Given the description of an element on the screen output the (x, y) to click on. 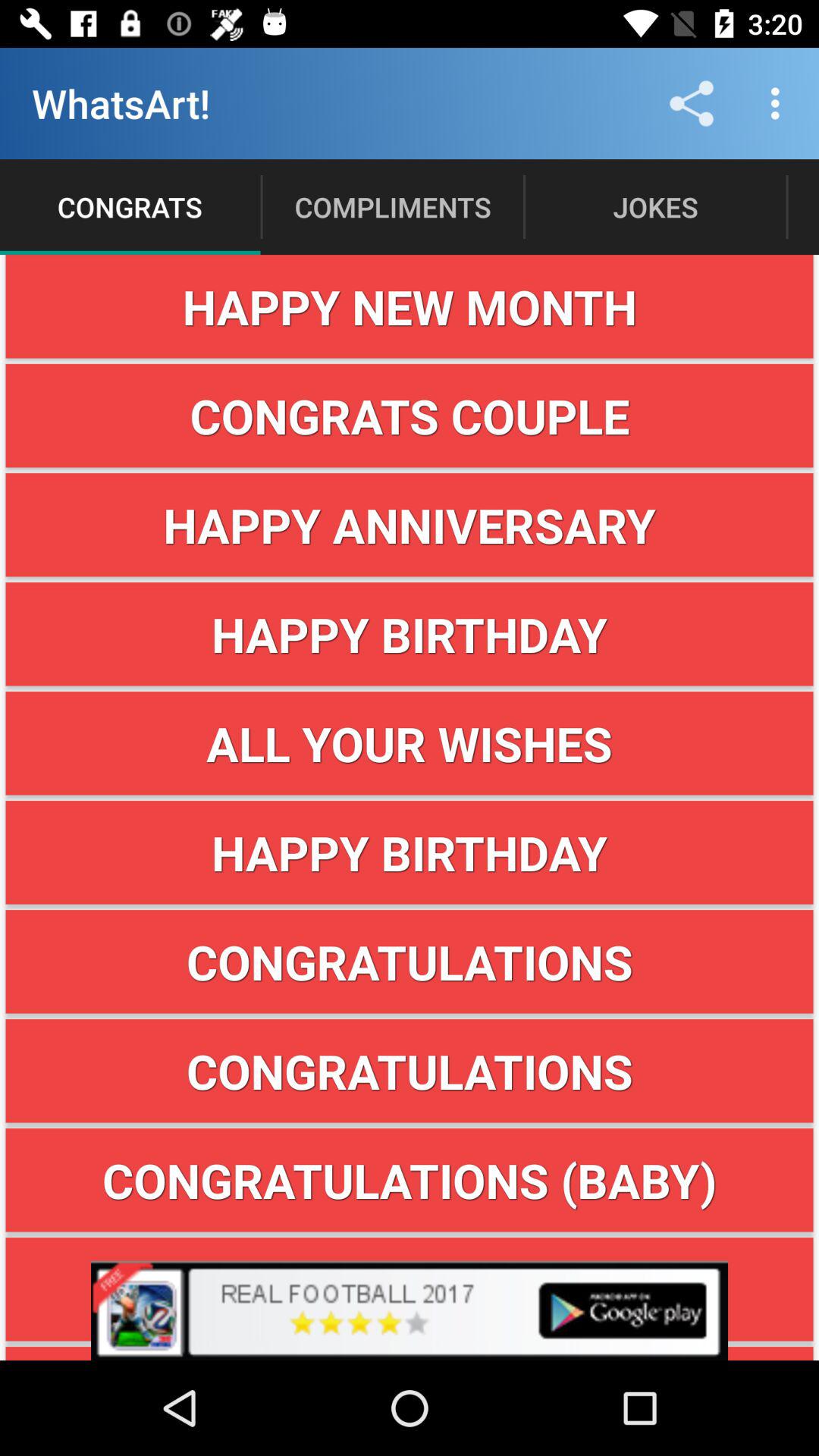
press the item above jokes (691, 103)
